Given the description of an element on the screen output the (x, y) to click on. 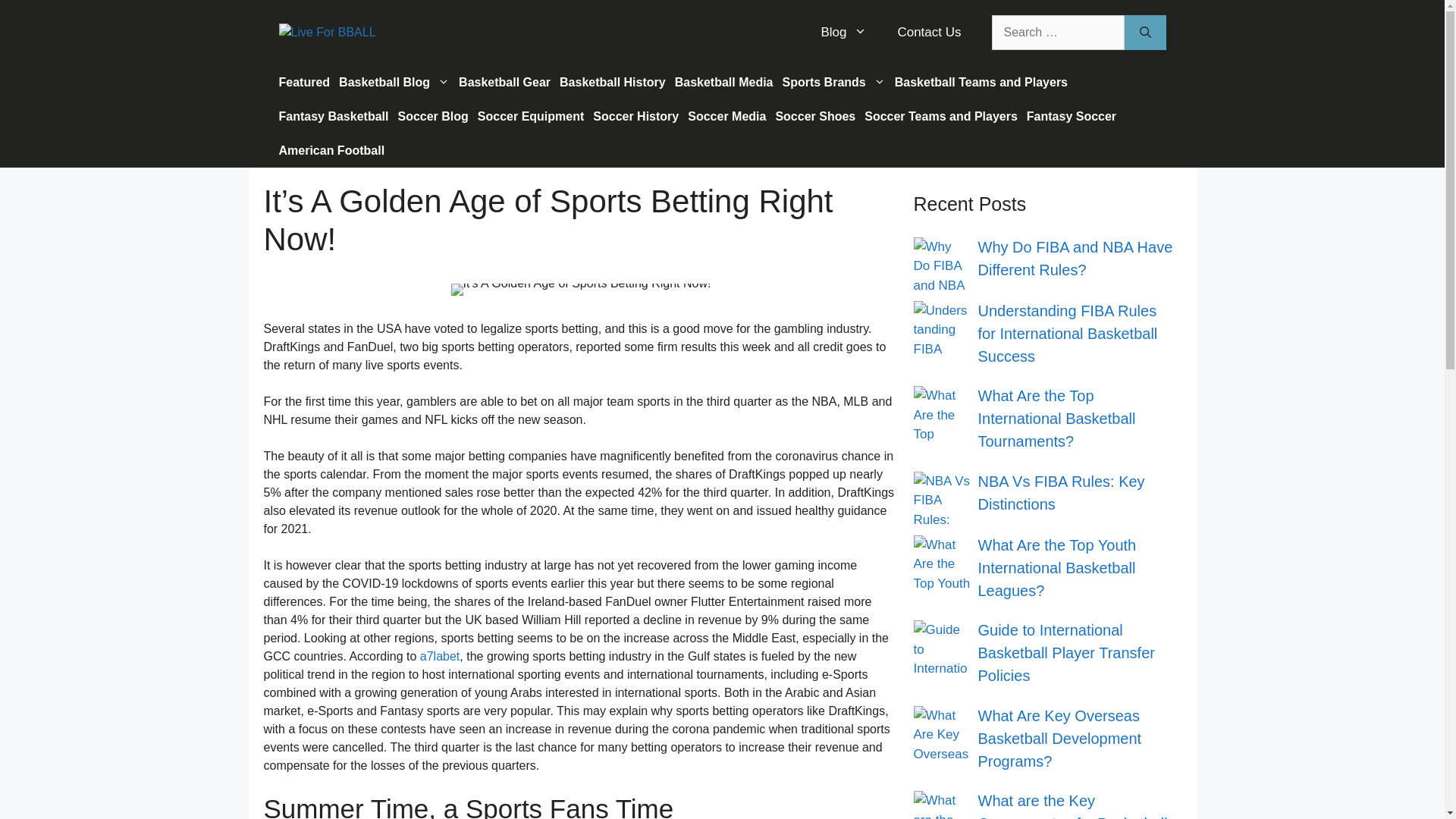
Basketball Blog (394, 82)
Basketball History (611, 82)
Soccer Equipment (530, 116)
Basketball Media (723, 82)
Featured (304, 82)
Search for: (1057, 32)
Basketball Gear (504, 82)
Fantasy Basketball (334, 116)
Basketball Teams and Players (980, 82)
Sports Brands (833, 82)
